Given the description of an element on the screen output the (x, y) to click on. 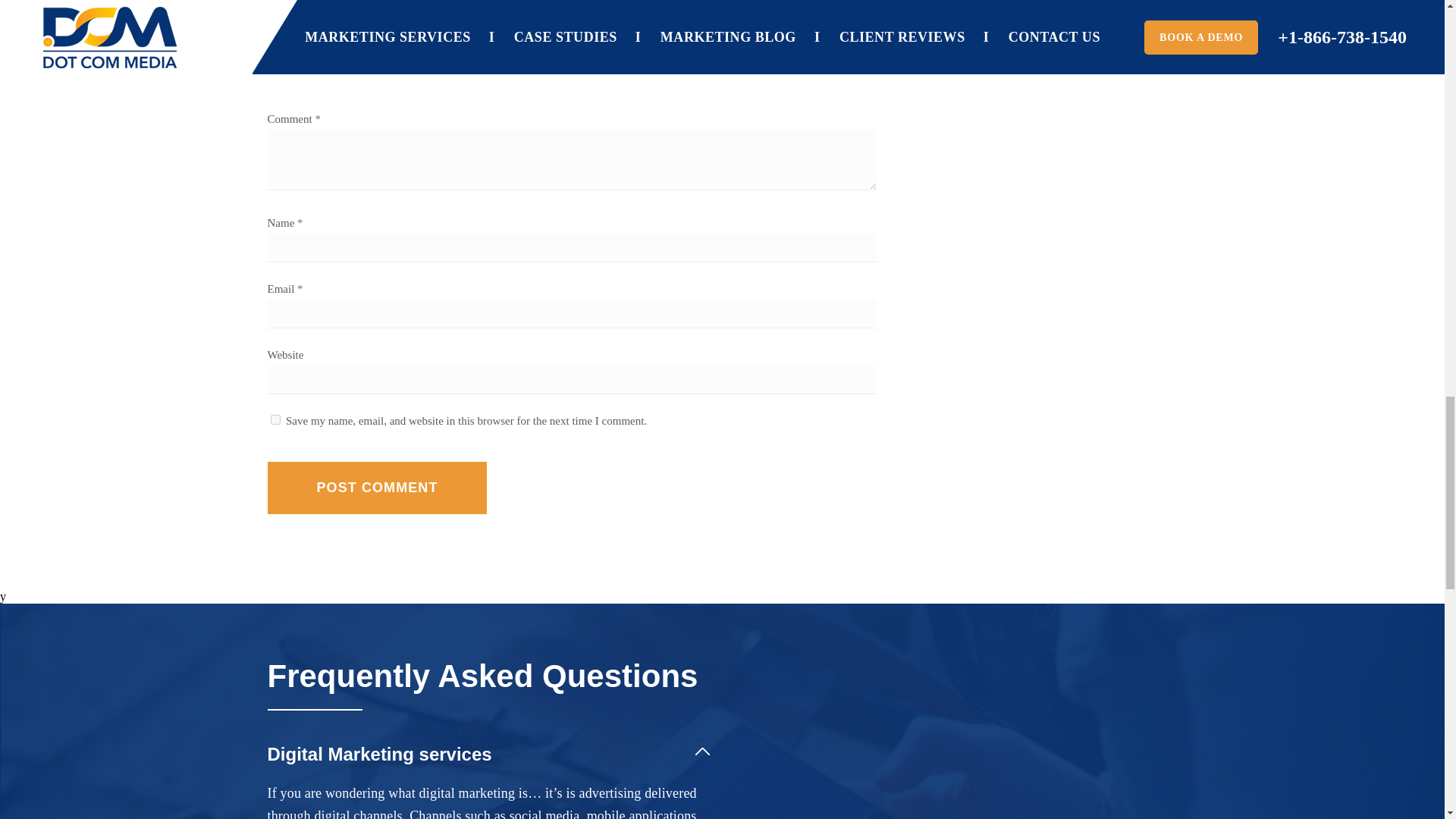
yes (274, 419)
Post Comment (376, 487)
